Given the description of an element on the screen output the (x, y) to click on. 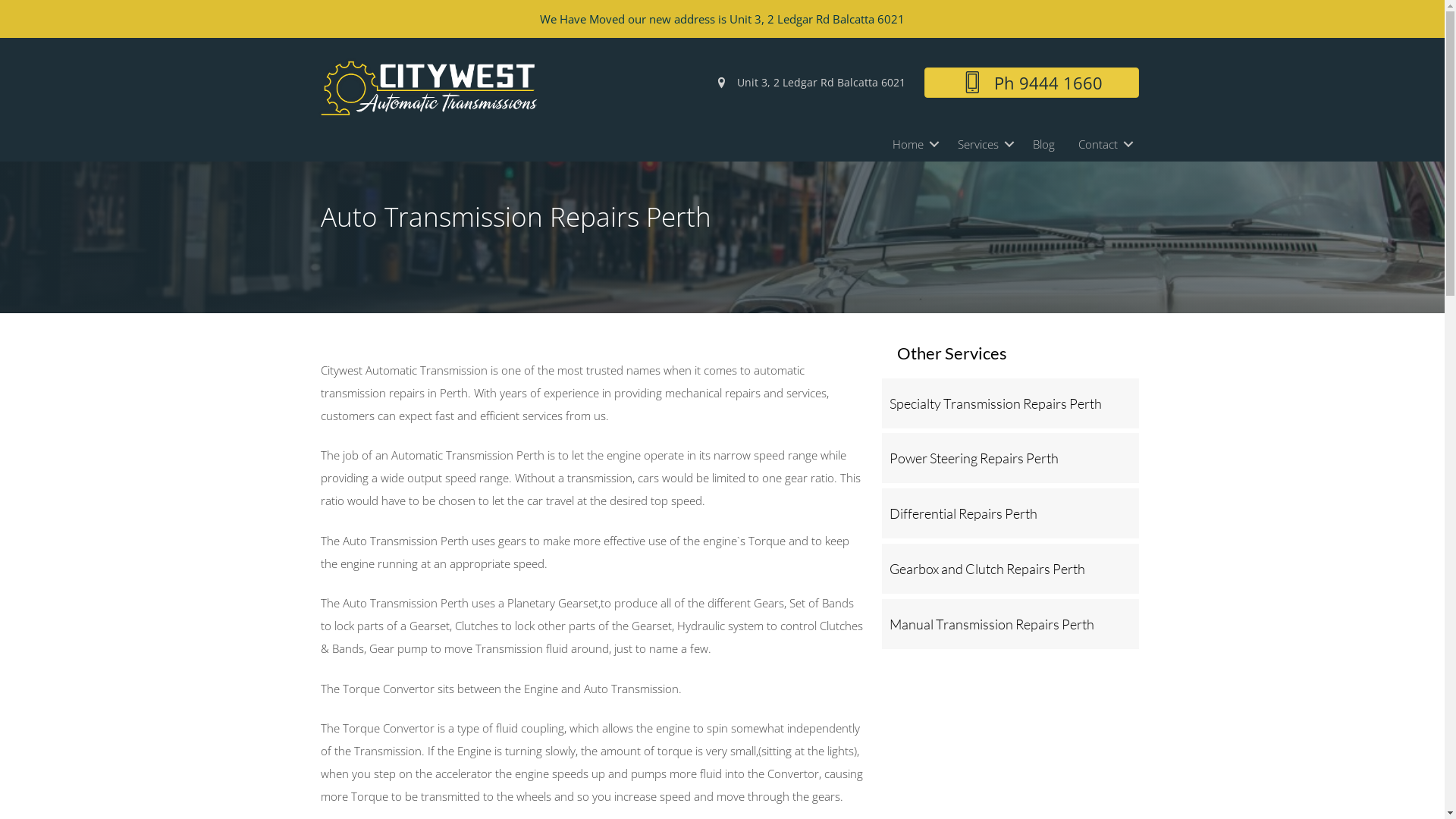
Contact Element type: text (1102, 144)
Unit 3, 2 Ledgar Rd Balcatta 6021 Element type: text (809, 81)
Gearbox and Clutch Repairs Perth Element type: hover (1010, 568)
Specialty Transmission Repairs Perth Element type: hover (1010, 403)
Blog Element type: text (1042, 144)
city west white Element type: hover (427, 90)
Services Element type: text (983, 144)
Ph 9444 1660 Element type: text (1031, 82)
Power Steering Repairs Perth Element type: hover (1010, 458)
Manual Transmission Repairs Perth Element type: hover (1010, 624)
Differential Repairs Perth Element type: hover (1010, 513)
Home Element type: text (913, 144)
